Given the description of an element on the screen output the (x, y) to click on. 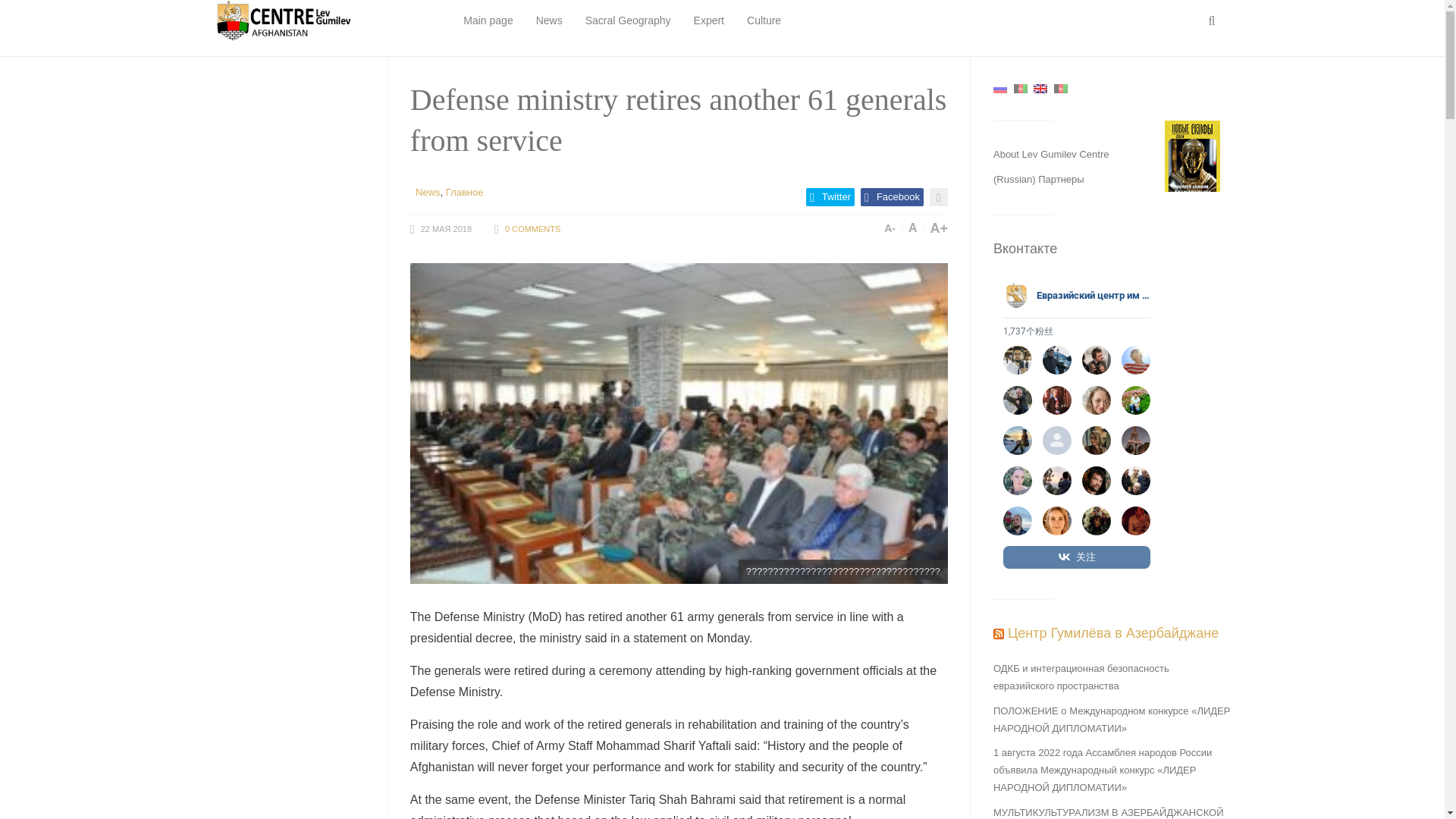
About Lev Gumilev Centre (1050, 153)
Twitter (830, 197)
View all posts in News (427, 192)
Facebook (891, 197)
Main page (487, 20)
Main page (487, 20)
Sacral Geography (628, 20)
0 COMMENTS (532, 228)
News (427, 192)
Sacral Geography (628, 20)
